Given the description of an element on the screen output the (x, y) to click on. 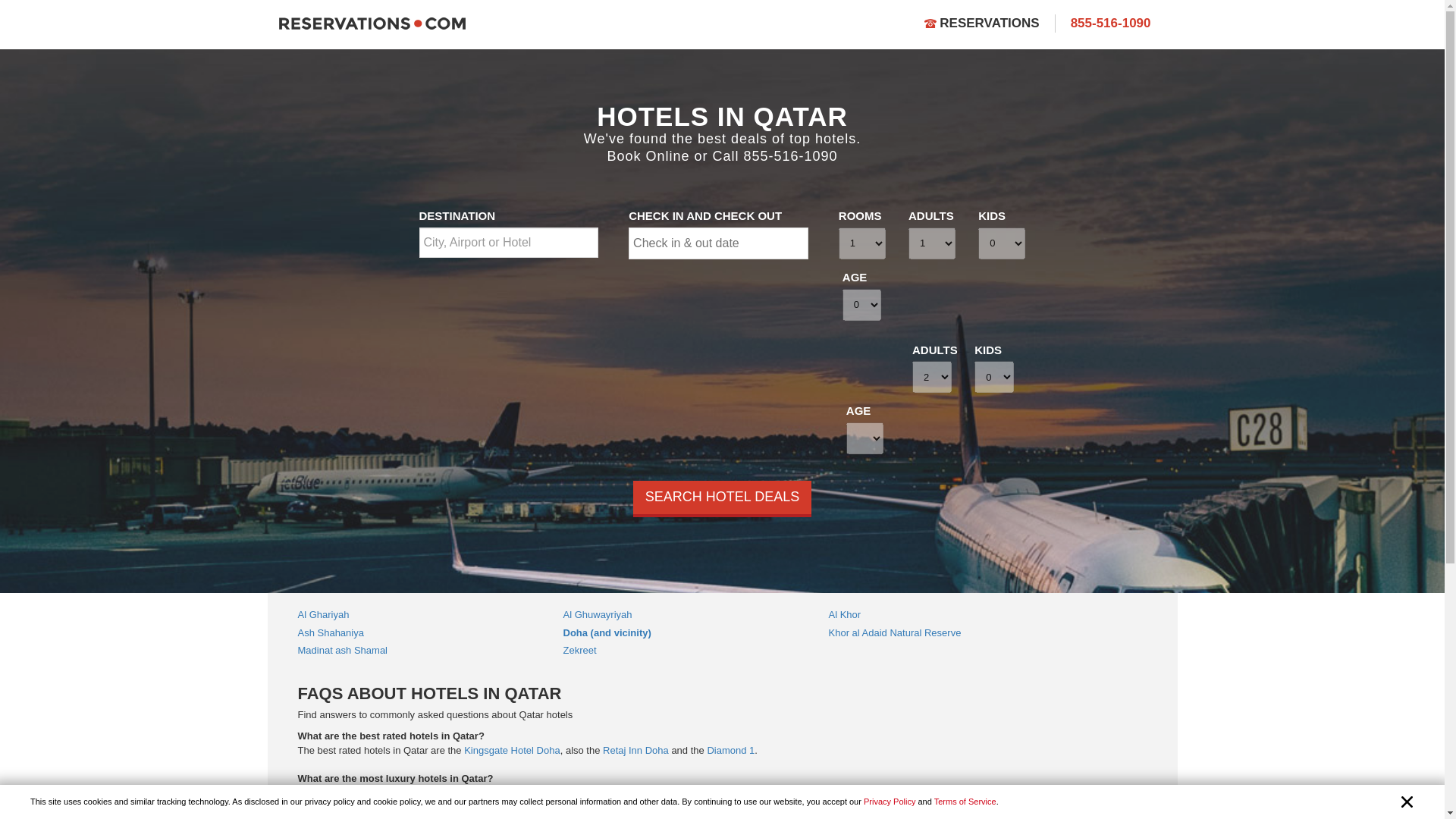
Al Ghuwayriyah (596, 614)
Privacy Policy (889, 800)
Oryx Rotana (689, 792)
Doha Marriott (786, 792)
855-516-1090 (1110, 22)
Khor al Adaid Natural Reserve (894, 632)
Diamond 1 (730, 749)
Madinat ash Shamal (342, 650)
Ash Shahaniya (329, 632)
SEARCH HOTEL DEALS (721, 498)
